Given the description of an element on the screen output the (x, y) to click on. 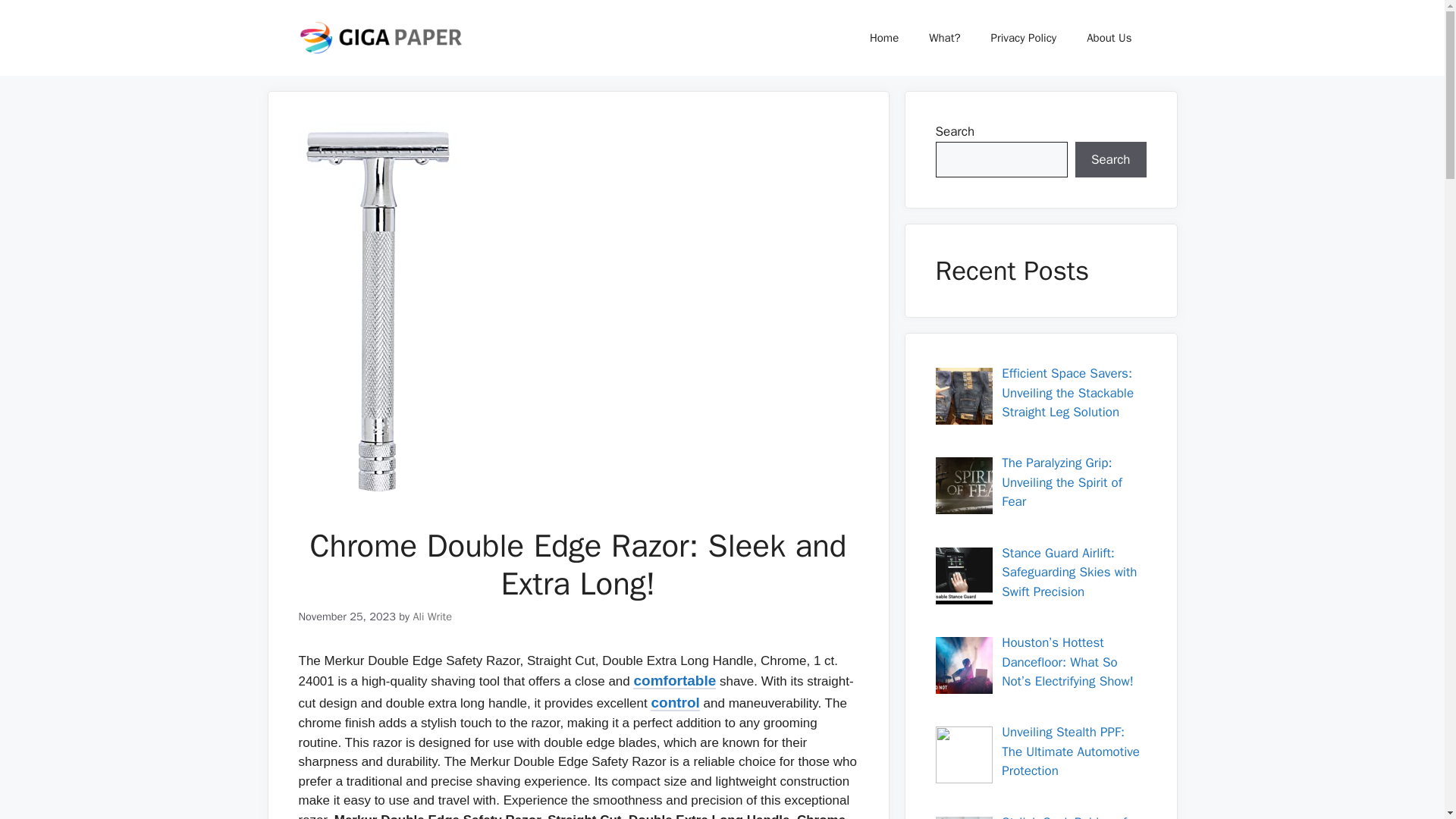
Unveiling Stealth PPF: The Ultimate Automotive Protection (1070, 750)
control (674, 703)
Privacy Policy (1023, 37)
comfortable (674, 681)
What? (944, 37)
Ali Write (431, 616)
The Paralyzing Grip: Unveiling the Spirit of Fear (1061, 482)
Control (674, 703)
View all posts by Ali Write (431, 616)
